Given the description of an element on the screen output the (x, y) to click on. 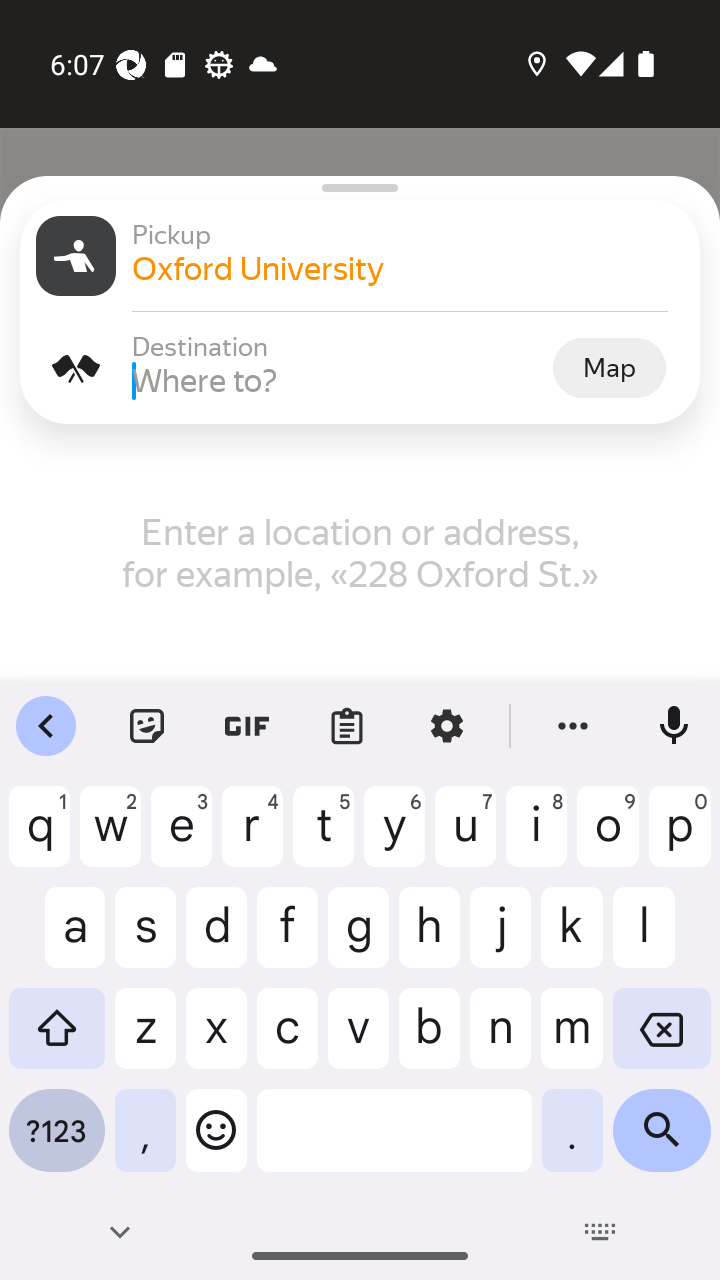
Pickup Pickup Oxford University (359, 255)
Oxford University (407, 268)
Destination Destination Where to? Map (359, 367)
Map (609, 367)
Where to? (340, 380)
